Given the description of an element on the screen output the (x, y) to click on. 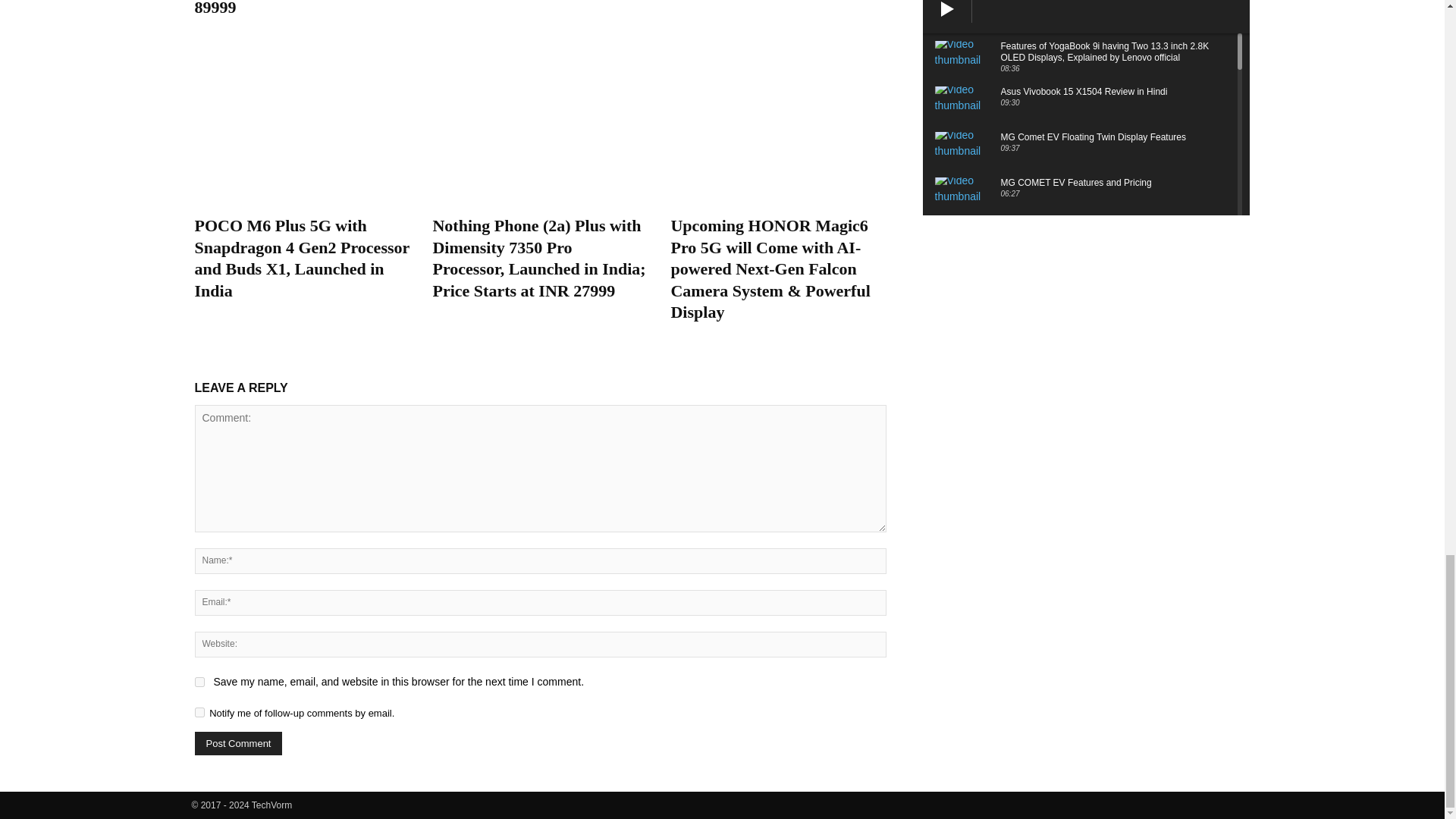
yes (198, 682)
subscribe (198, 712)
Post Comment (237, 743)
